Given the description of an element on the screen output the (x, y) to click on. 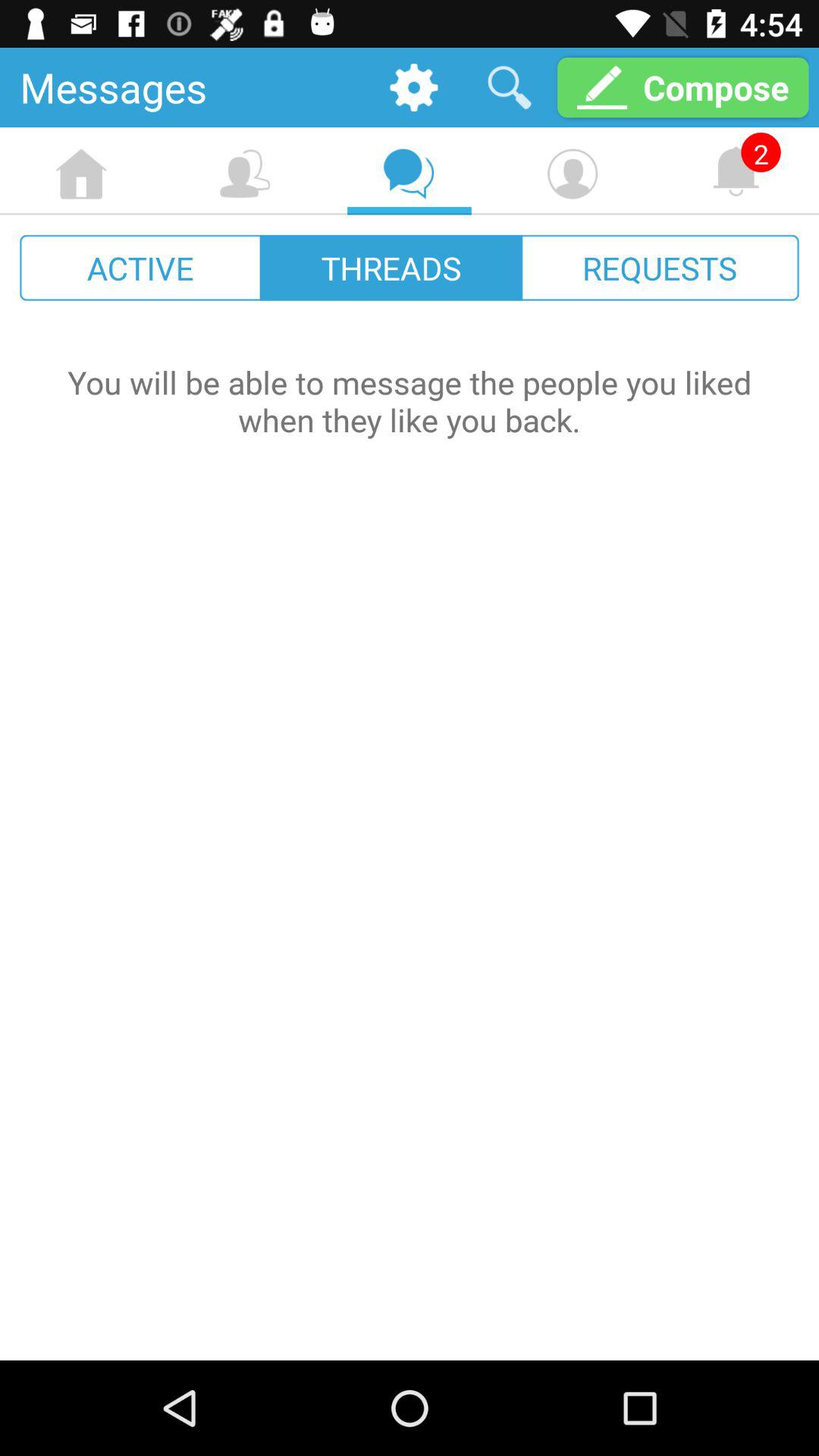
press icon to the left of the threads icon (140, 267)
